Given the description of an element on the screen output the (x, y) to click on. 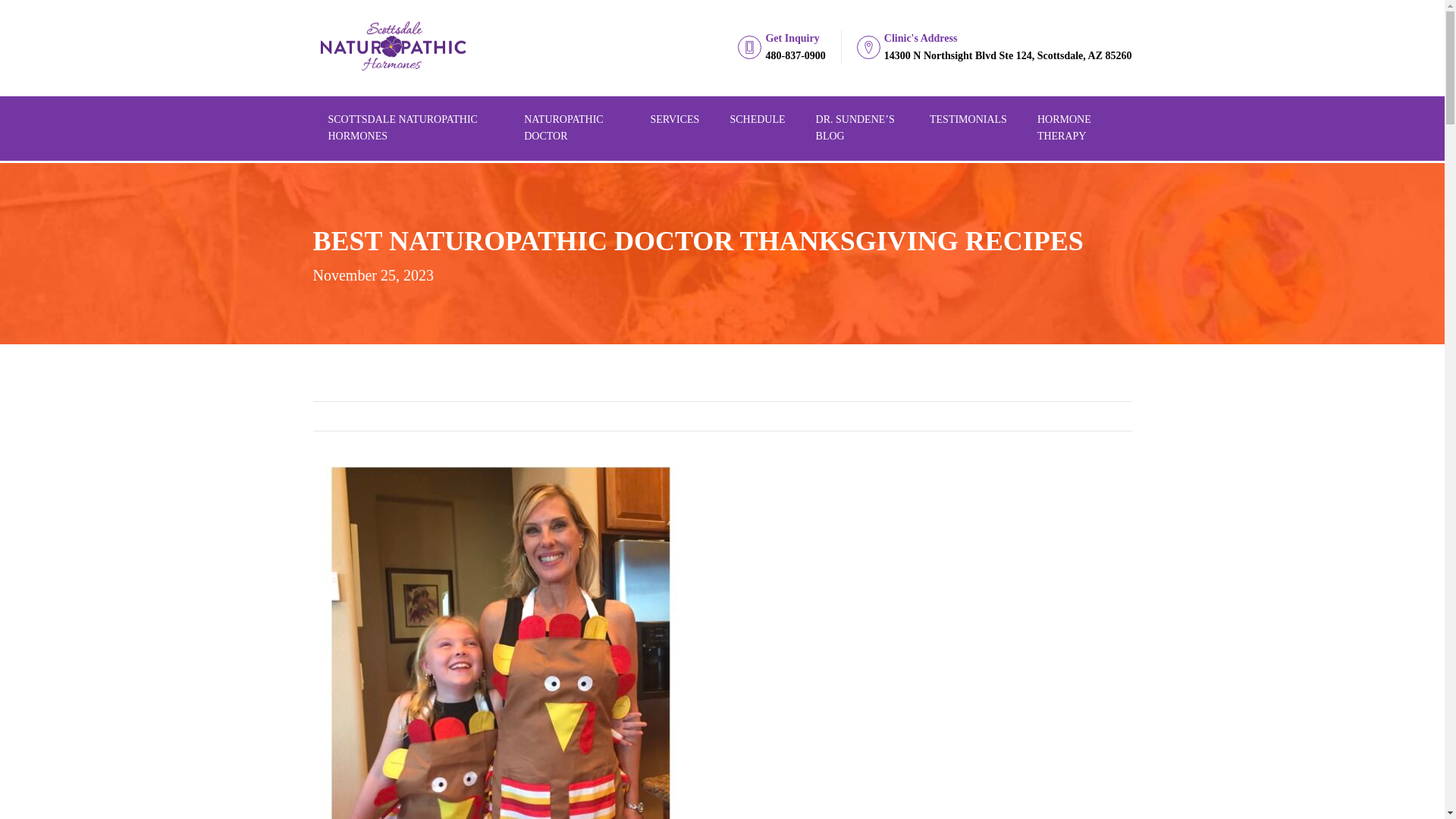
SCHEDULE (789, 47)
HORMONE THERAPY (756, 119)
SCOTTSDALE NATUROPATHIC HORMONES (1076, 128)
SERVICES (410, 128)
TESTIMONIALS (673, 119)
NATUROPATHIC DOCTOR (968, 119)
